Given the description of an element on the screen output the (x, y) to click on. 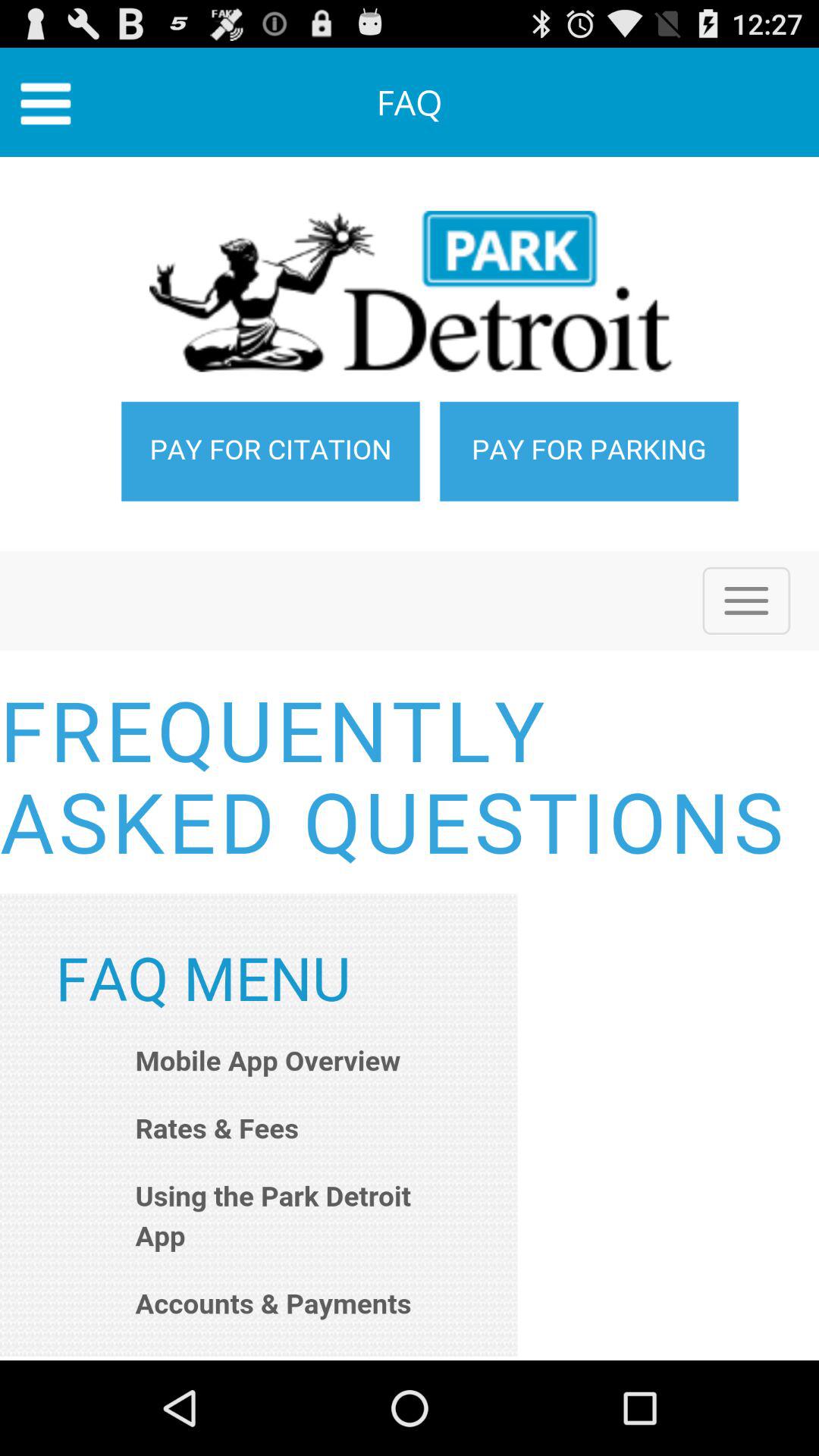
select the entire article (409, 758)
